Given the description of an element on the screen output the (x, y) to click on. 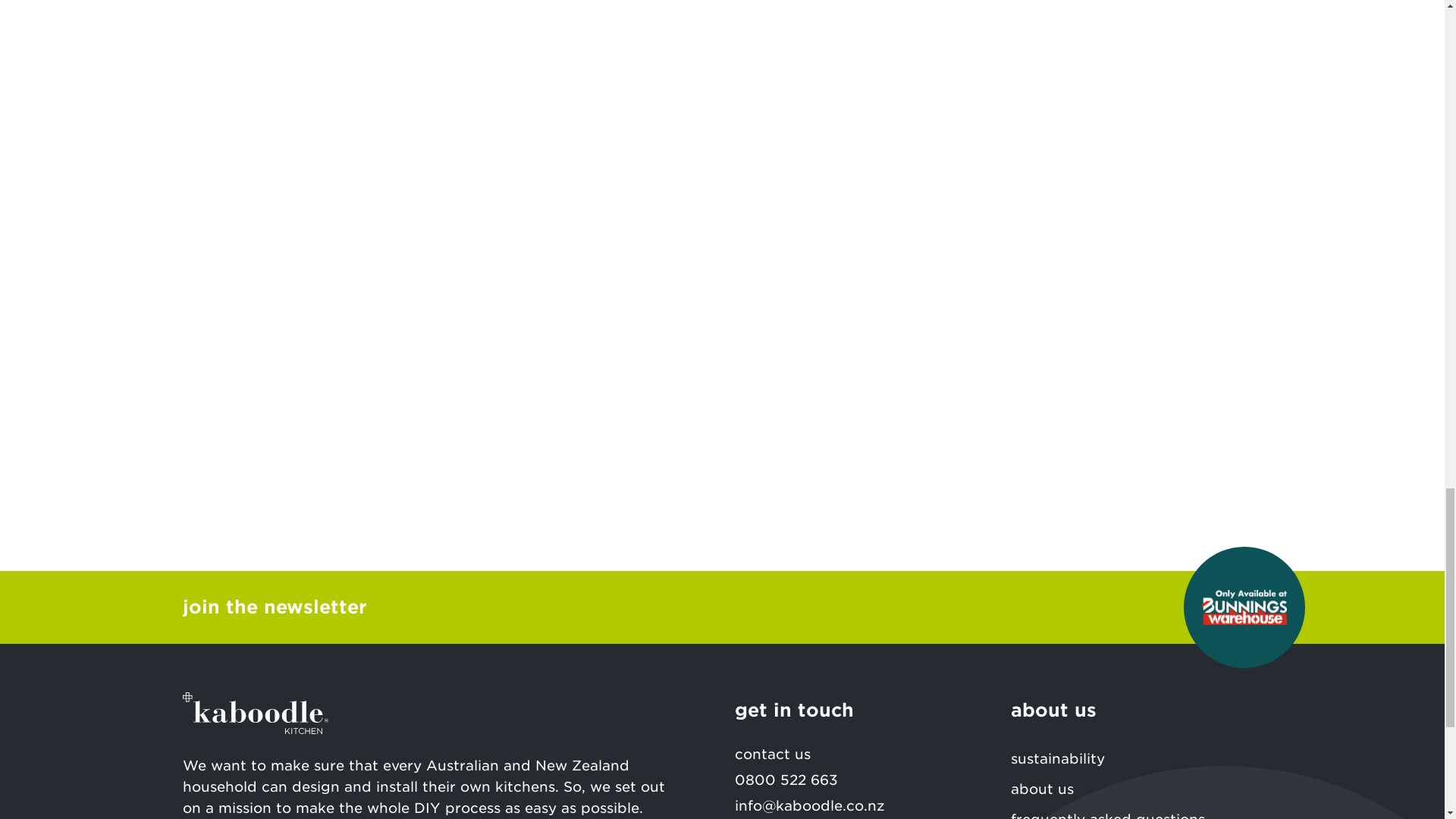
sustainability (1136, 758)
about us (1136, 788)
contact us (859, 753)
0800 522 663 (785, 779)
frequently asked questions (1136, 811)
